Given the description of an element on the screen output the (x, y) to click on. 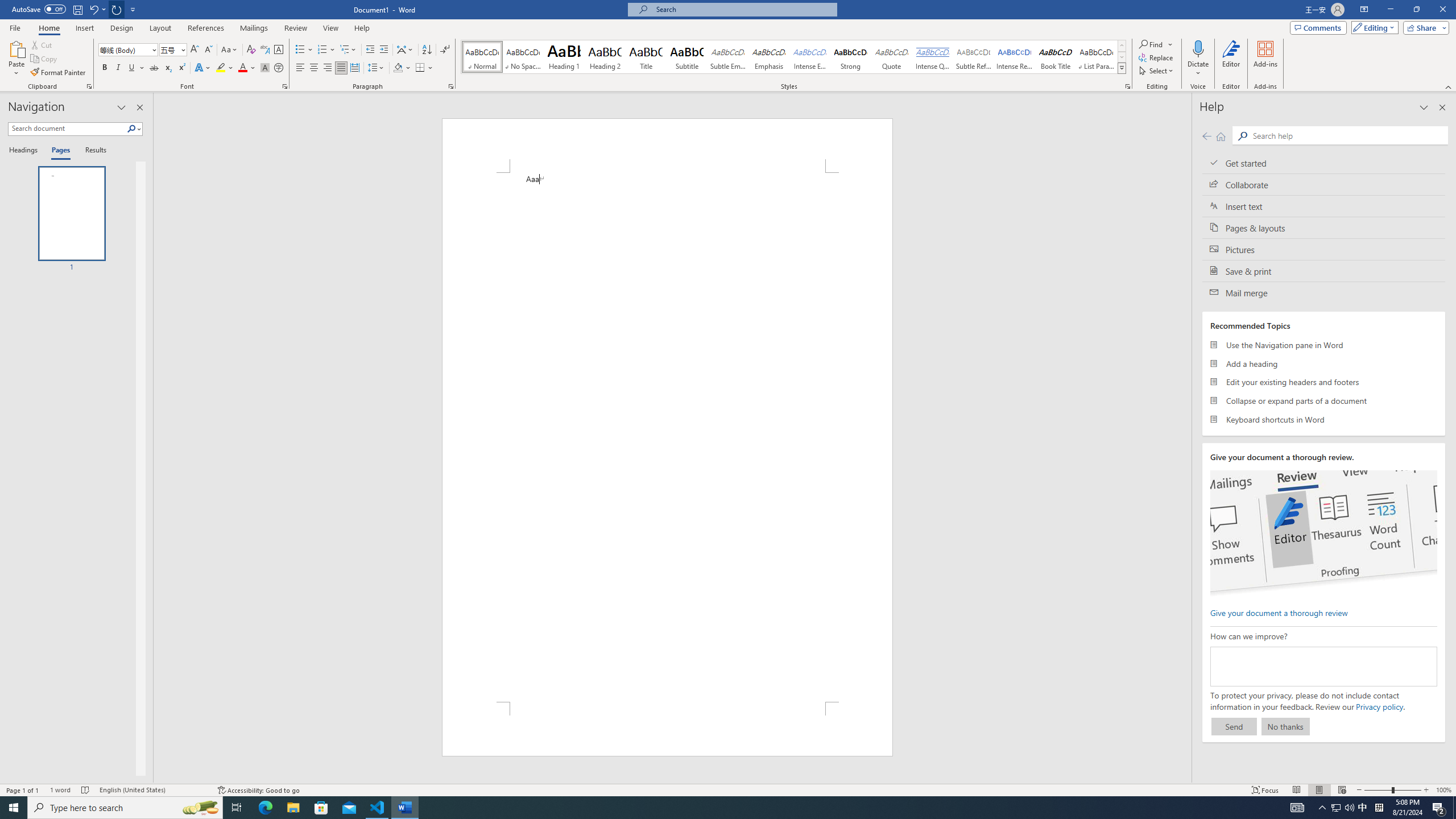
Edit your existing headers and footers (1323, 381)
No thanks (1285, 726)
Subtle Emphasis (727, 56)
Pages & layouts (1323, 228)
